Given the description of an element on the screen output the (x, y) to click on. 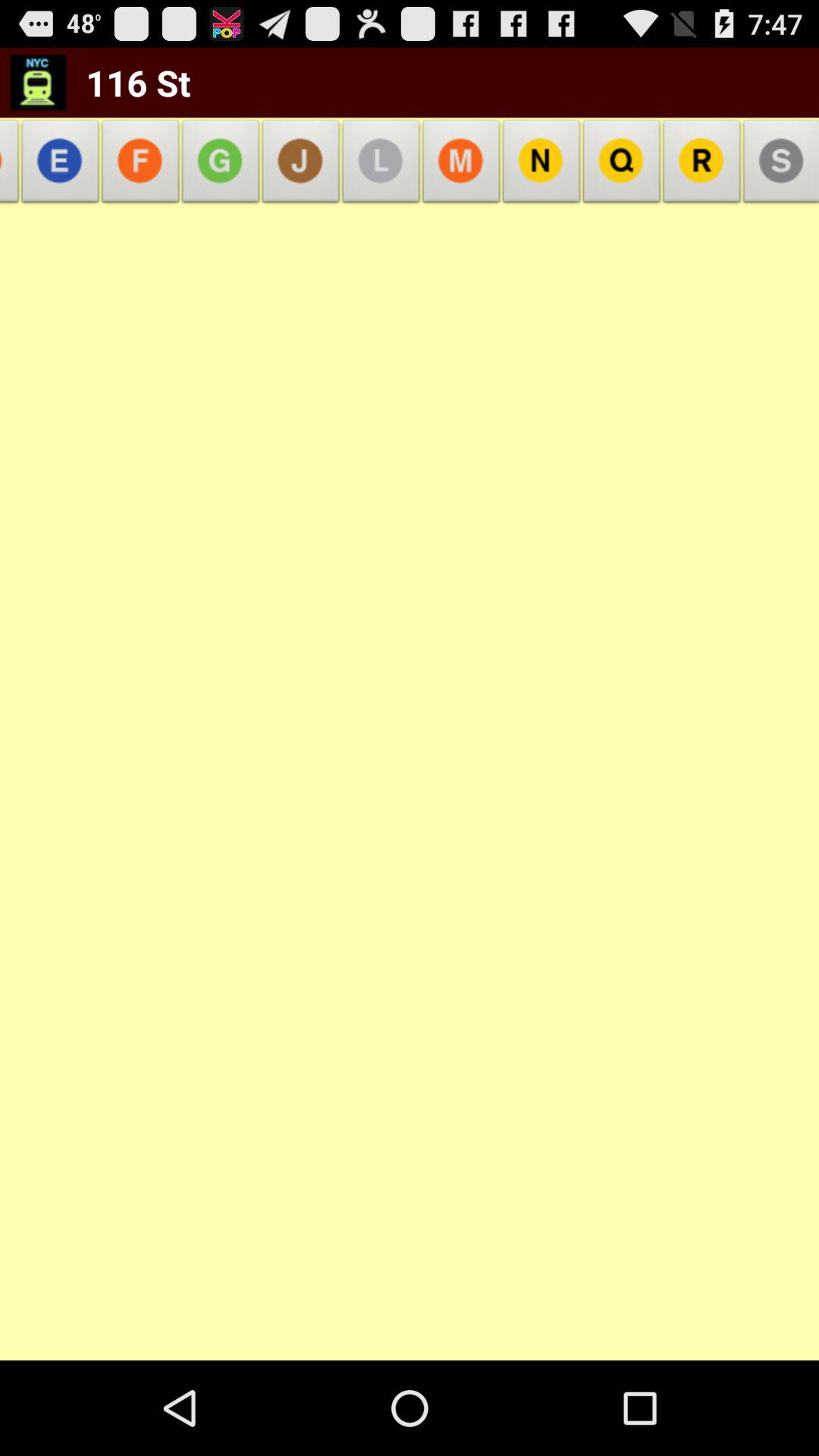
turn off the app to the right of 116 st app (300, 165)
